Given the description of an element on the screen output the (x, y) to click on. 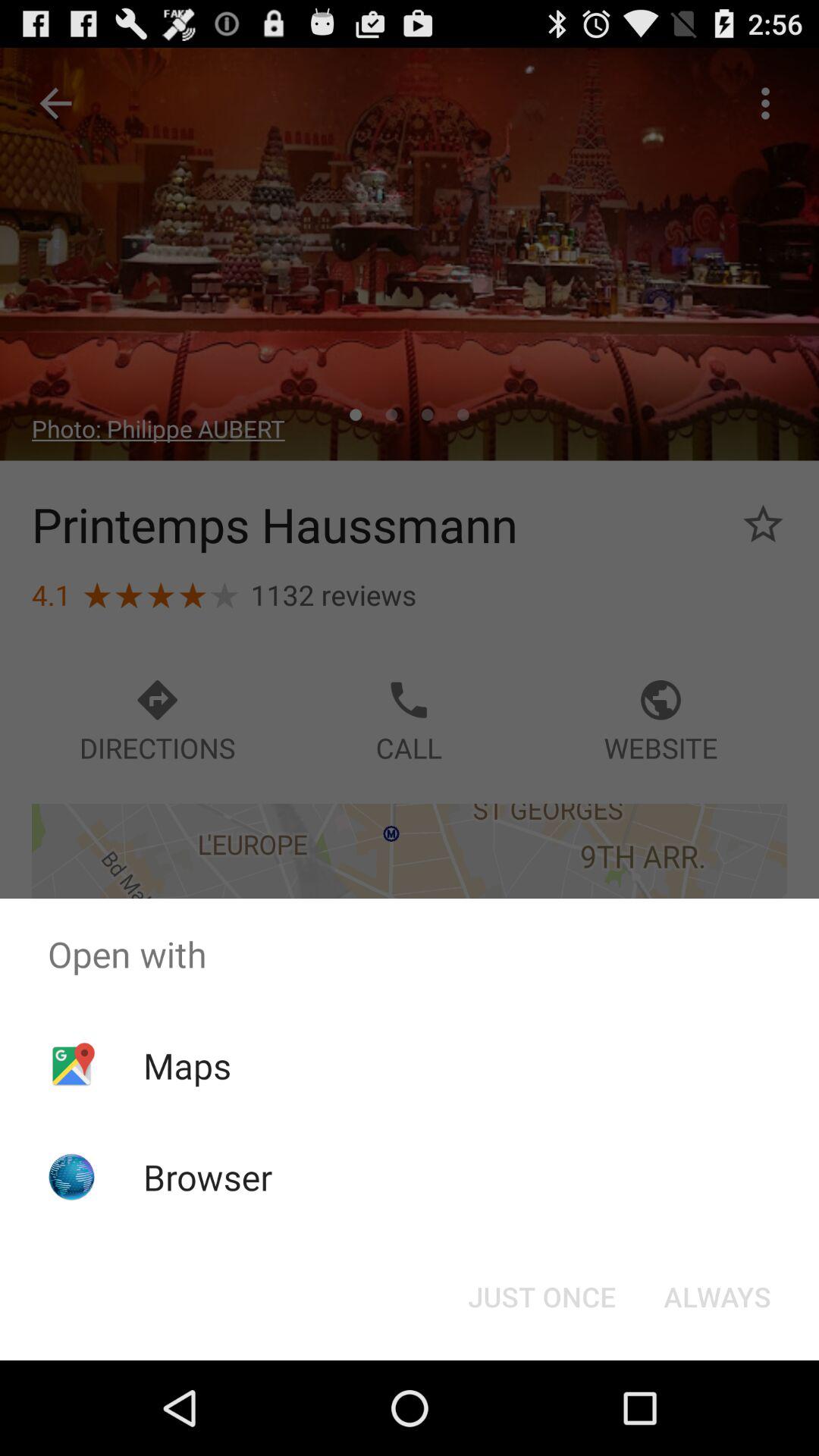
tap the maps app (187, 1065)
